Given the description of an element on the screen output the (x, y) to click on. 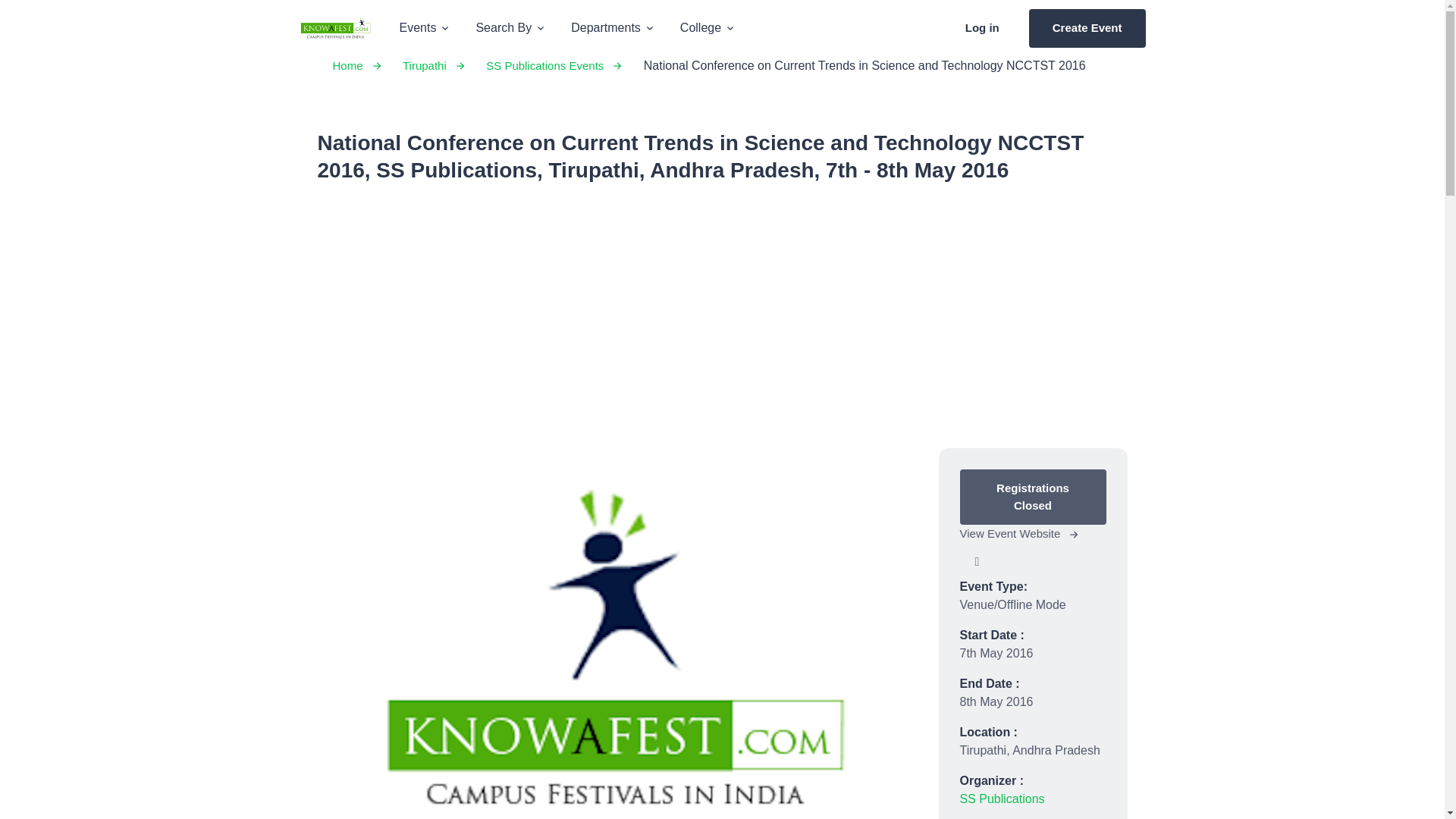
Search By (510, 27)
Events (425, 27)
Departments (613, 27)
